Given the description of an element on the screen output the (x, y) to click on. 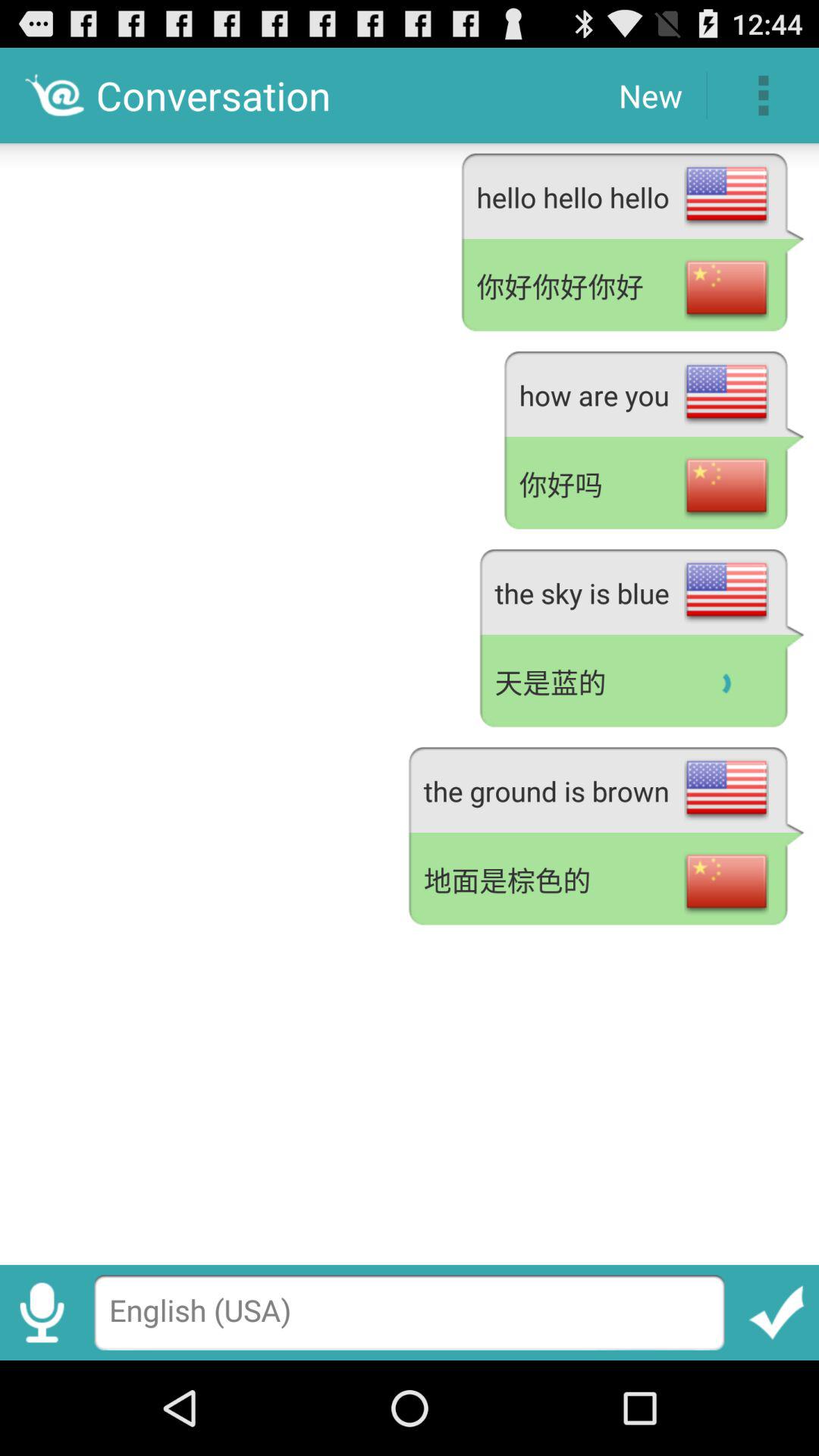
jump until the how are you icon (653, 391)
